Given the description of an element on the screen output the (x, y) to click on. 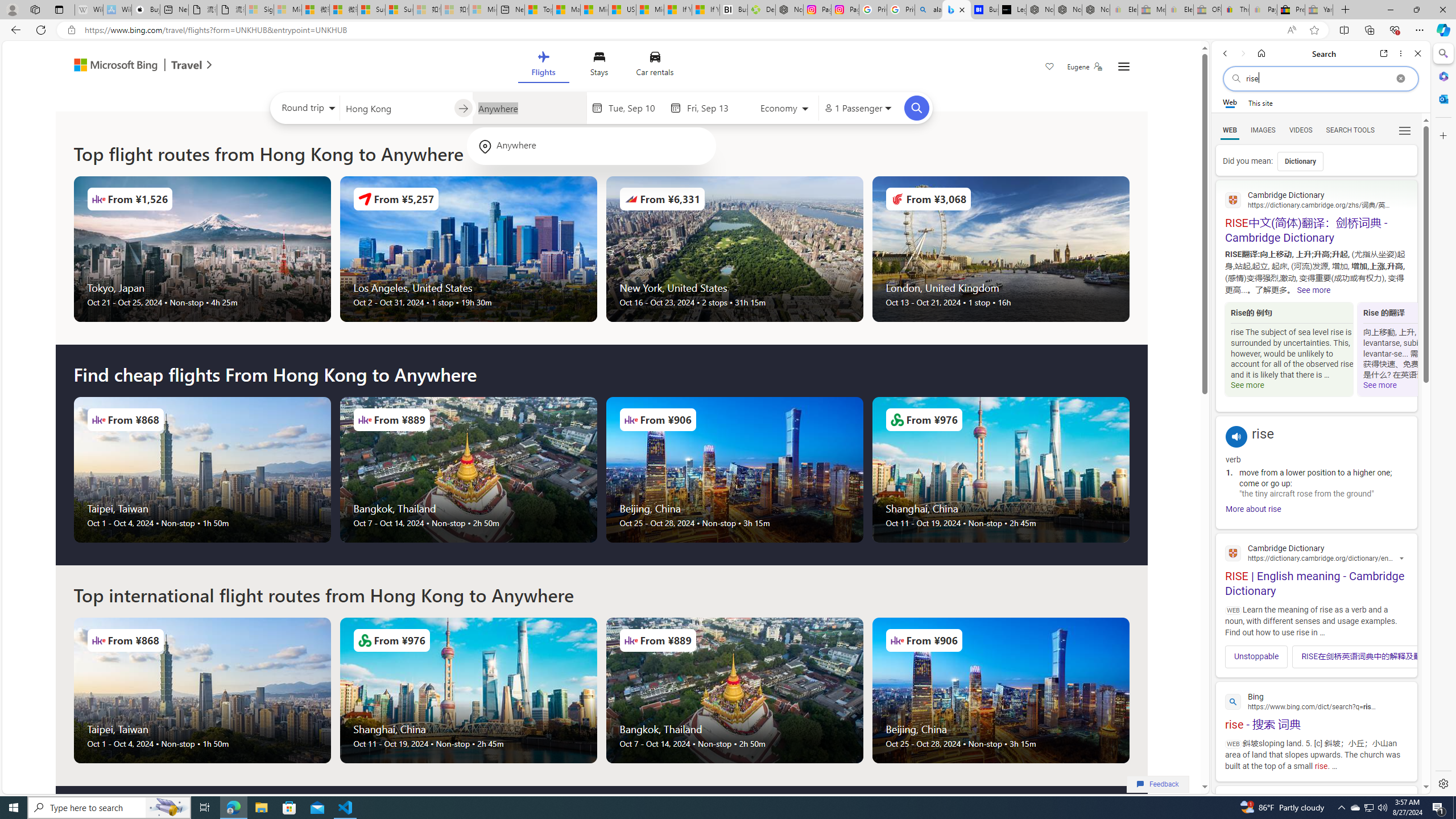
Threats and offensive language policy | eBay (1235, 9)
More about rise (1253, 508)
Class: msft-bing-logo msft-bing-logo-desktop (112, 64)
Microsoft account | Account Checkup - Sleeping (483, 9)
Save (1049, 67)
Bing (1315, 700)
